Given the description of an element on the screen output the (x, y) to click on. 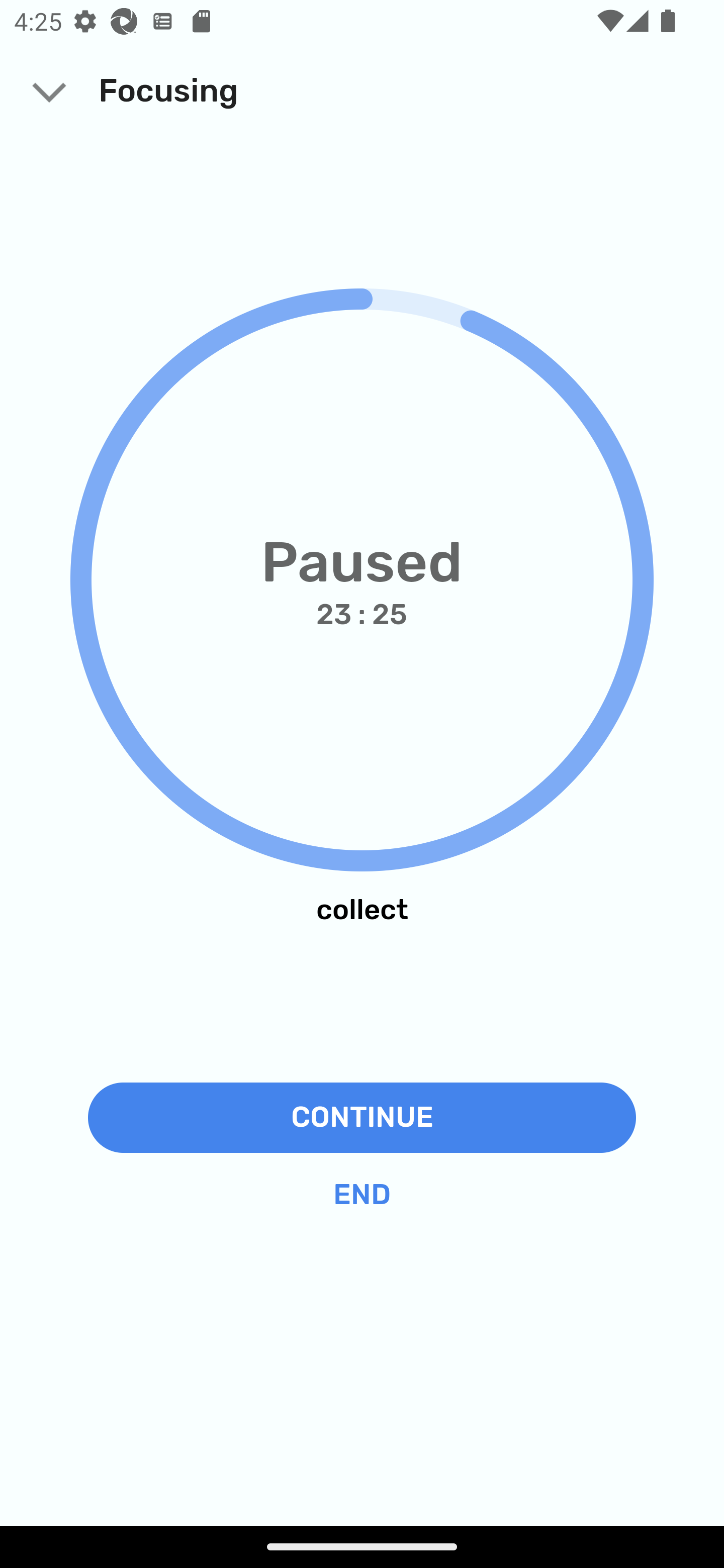
CONTINUE (361, 1116)
END (361, 1195)
